Given the description of an element on the screen output the (x, y) to click on. 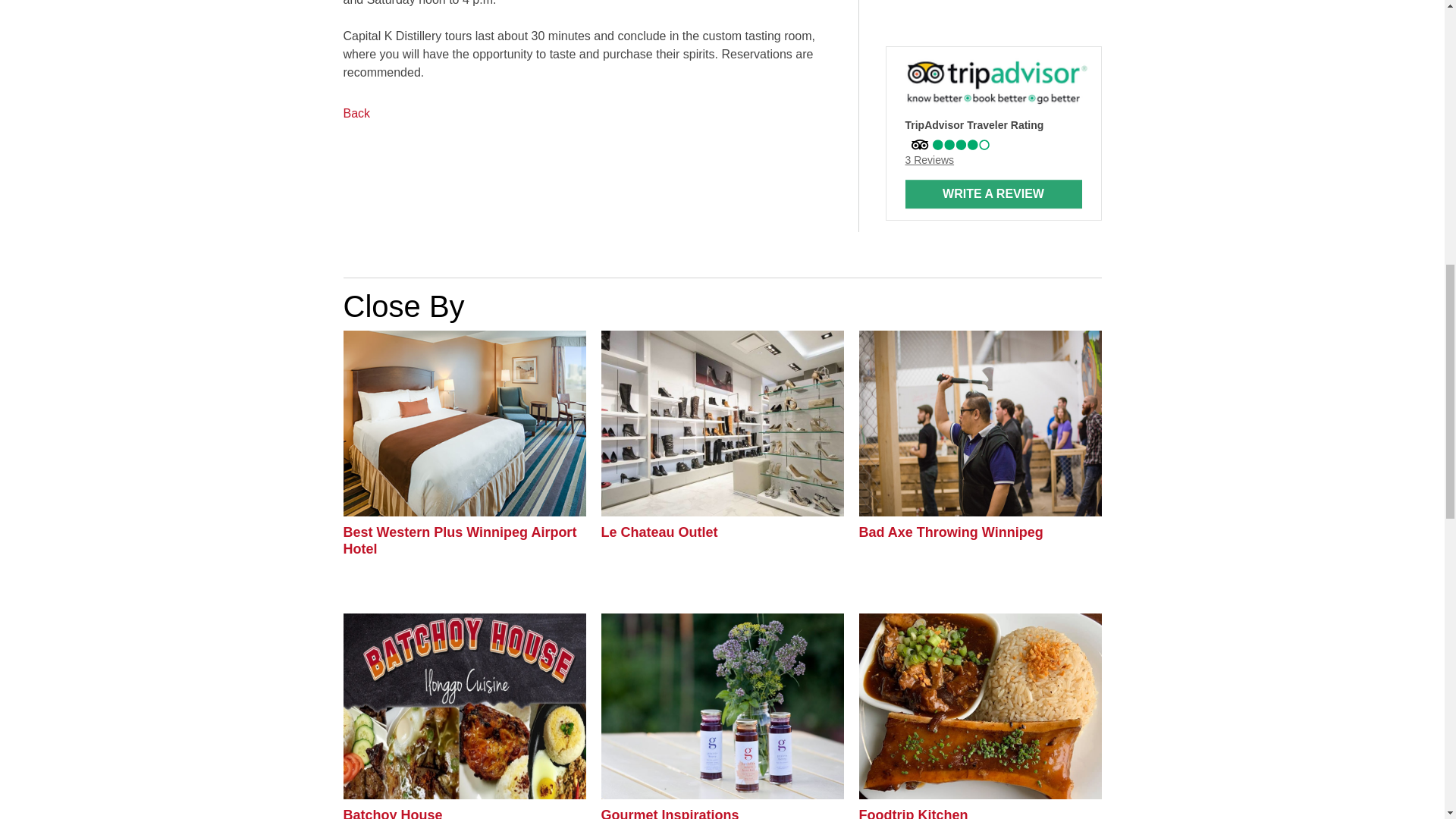
Facebook (920, 22)
Instagram (946, 22)
Twitter (894, 22)
